Given the description of an element on the screen output the (x, y) to click on. 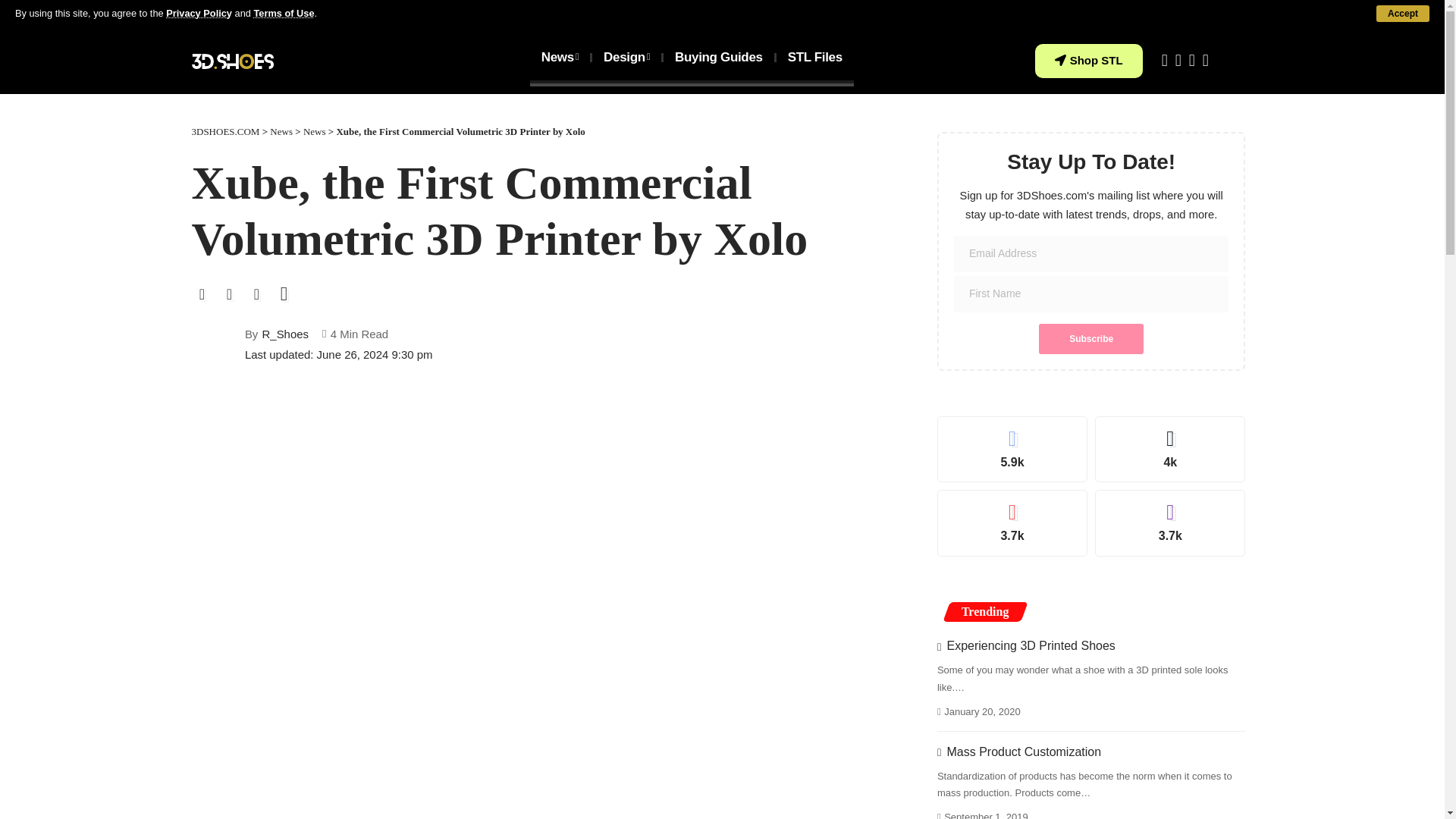
Subscribe (1090, 338)
Shop STL (1088, 60)
Accept (1402, 13)
Buying Guides (718, 57)
Go to 3DSHOES.COM. (224, 131)
Design (626, 57)
News (559, 57)
STL Files (814, 57)
Privacy Policy (198, 12)
Terms of Use (283, 12)
